Given the description of an element on the screen output the (x, y) to click on. 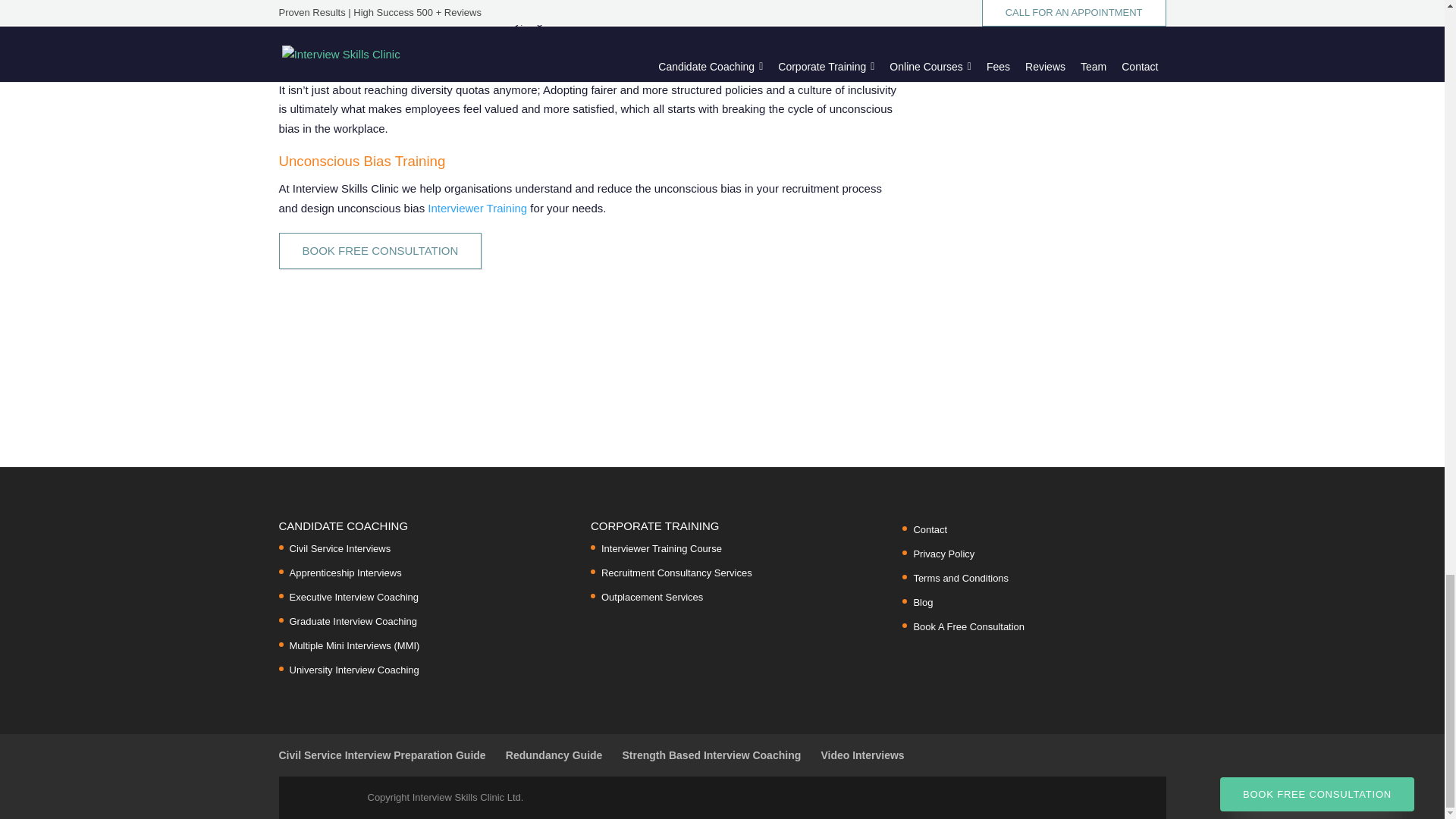
Civil Service Interviews (340, 548)
Interviewer Training Course (661, 548)
University Interview Coaching (354, 669)
Graduate Interview Coaching (352, 621)
Executive Interview Coaching (354, 596)
BOOK FREE CONSULTATION (380, 250)
Recruitment Consultancy Services (676, 572)
Interviewer Training (476, 206)
Apprenticeship Interviews (345, 572)
